Given the description of an element on the screen output the (x, y) to click on. 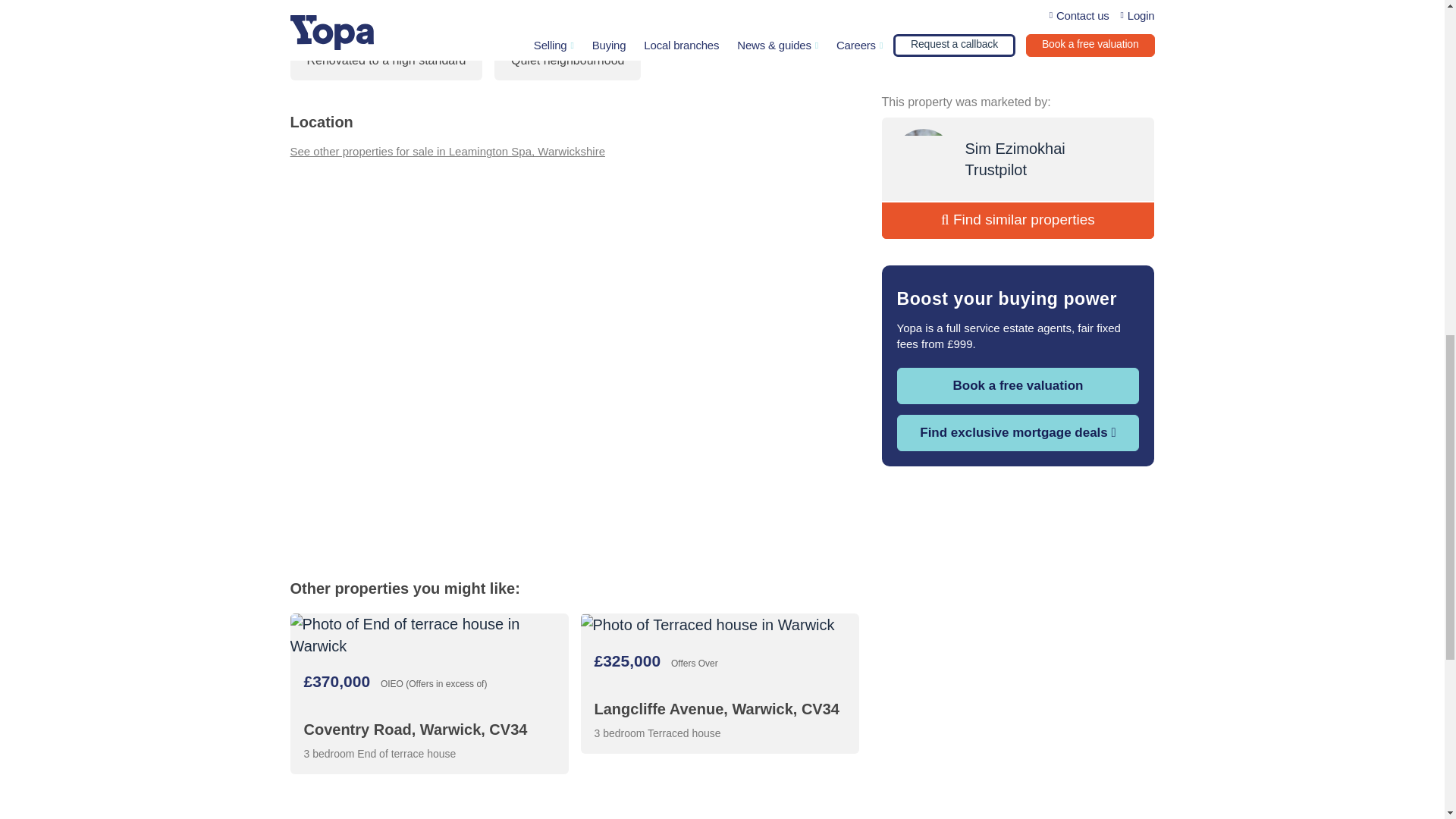
Well-appointed bathroom with walk-in shower (630, 14)
Quiet neighbourhood (567, 60)
Renovated to a high standard (385, 60)
Three comfortable bedrooms (384, 14)
